Given the description of an element on the screen output the (x, y) to click on. 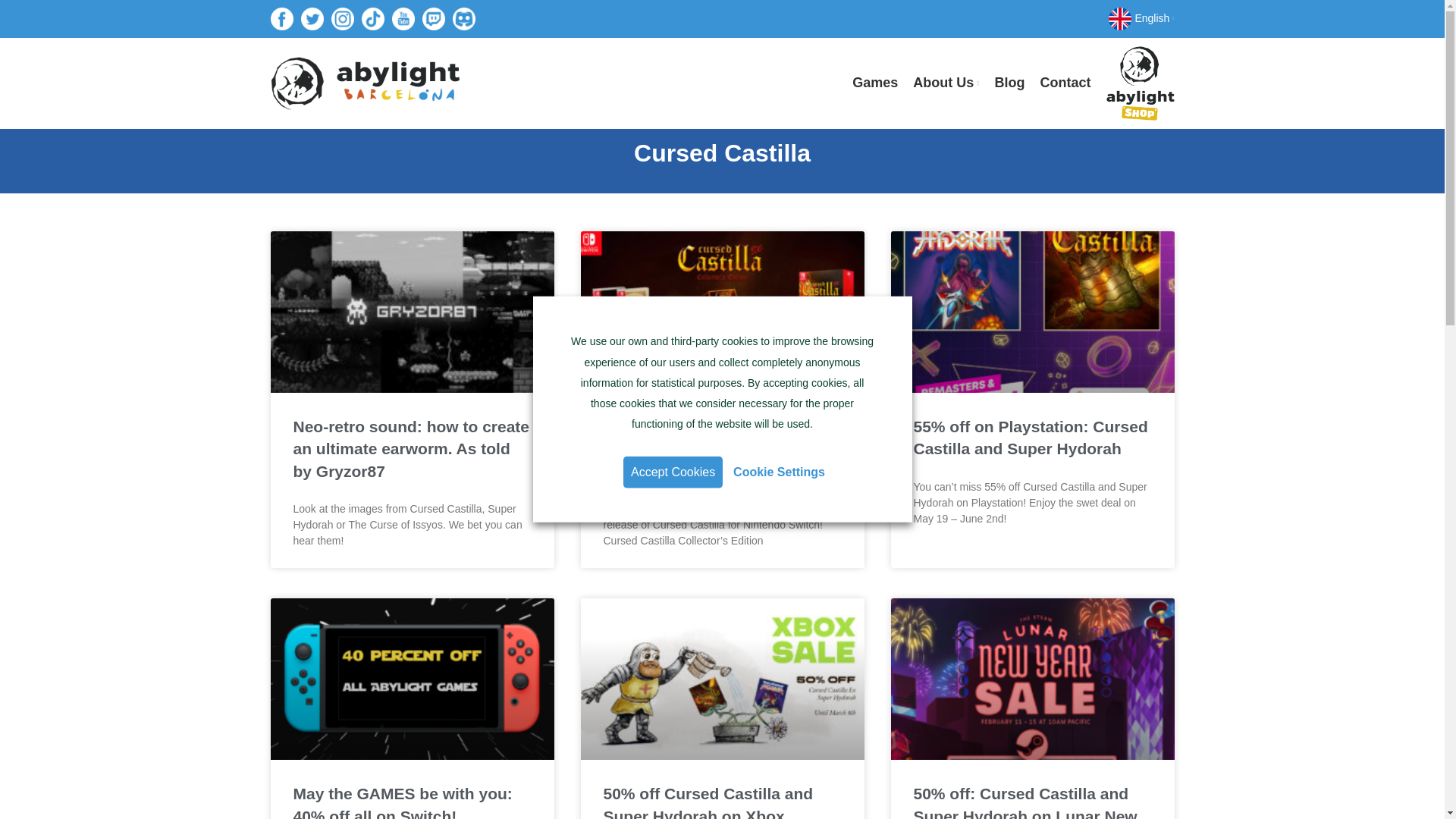
English (1140, 19)
Games (874, 82)
Contact (1065, 82)
Abylight en Twitch (433, 18)
Abylight en Instagram (342, 18)
Abylight en Tik Tok (372, 18)
Blog (1009, 82)
Abylight Barcelona Games (874, 82)
